Given the description of an element on the screen output the (x, y) to click on. 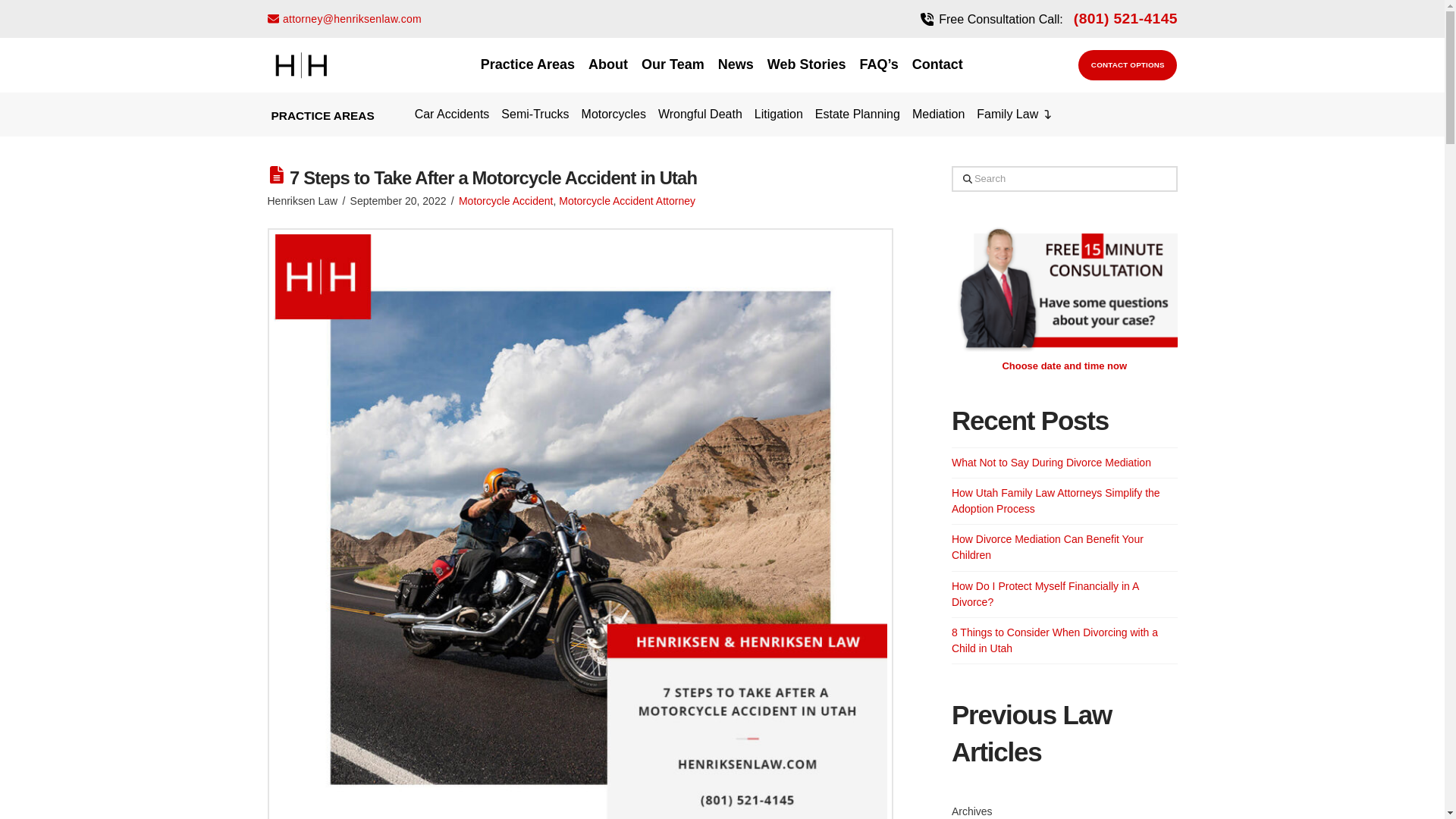
About (607, 65)
Web Stories (806, 65)
CONTACT OPTIONS (1127, 64)
Family Law (1014, 114)
Litigation (778, 114)
Contact (937, 65)
Choose date and time now (1063, 365)
How Do I Protect Myself Financially in A Divorce? (1045, 593)
Motorcycle Accident Attorney (627, 200)
What Not to Say During Divorce Mediation (1051, 462)
Motorcycle Accident (505, 200)
Car Accidents (452, 114)
8 Things to Consider When Divorcing with a Child in Utah (1054, 640)
Estate Planning (857, 114)
How Utah Family Law Attorneys Simplify the Adoption Process (1056, 500)
